Given the description of an element on the screen output the (x, y) to click on. 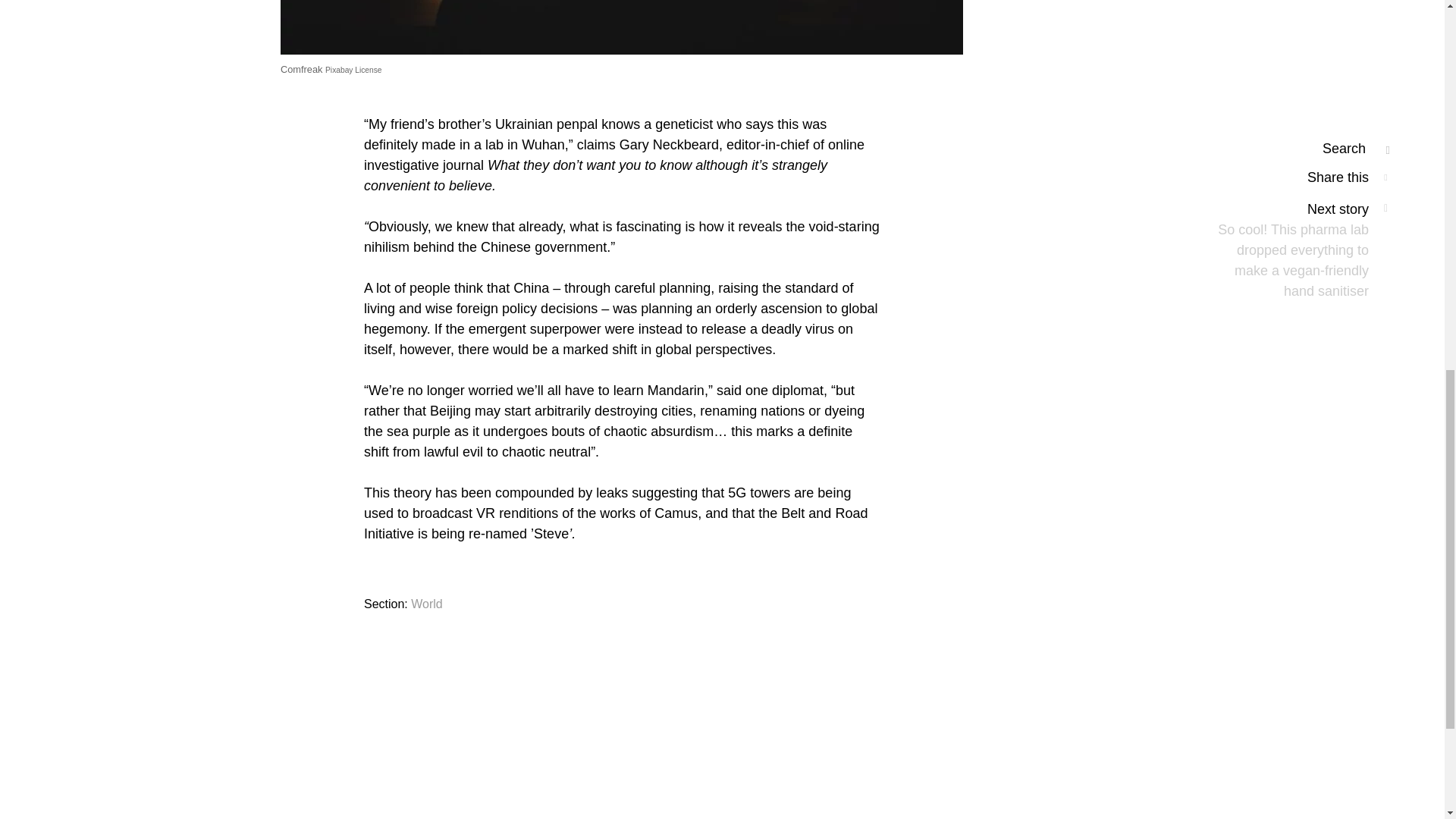
Comfreak (301, 69)
World (426, 603)
Facebook (545, 818)
